Given the description of an element on the screen output the (x, y) to click on. 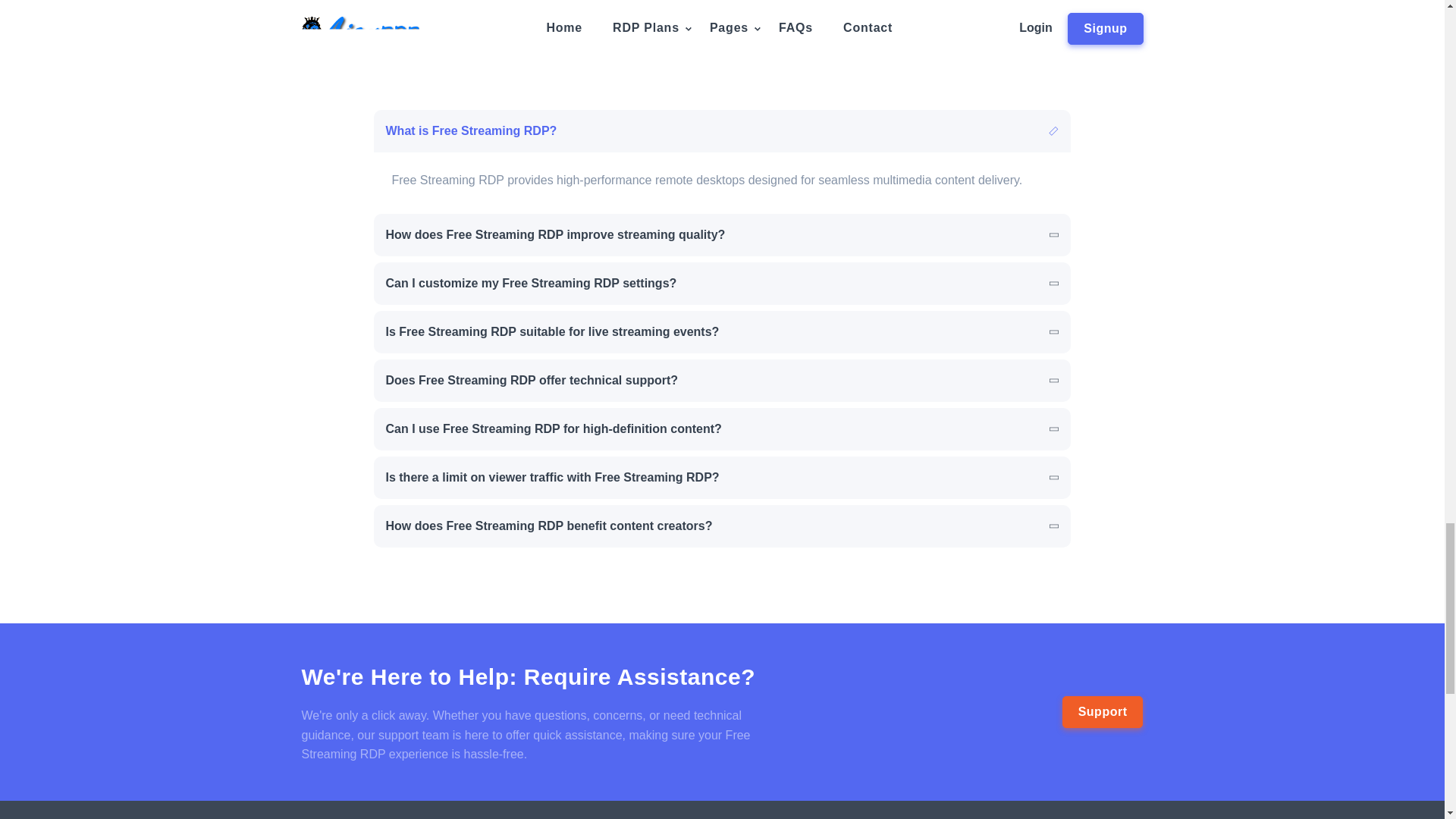
Can I use Free Streaming RDP for high-definition content? (721, 428)
Support (1102, 712)
Can I customize my Free Streaming RDP settings? (721, 283)
What is Free Streaming RDP? (721, 130)
How does Free Streaming RDP benefit content creators? (721, 526)
Does Free Streaming RDP offer technical support? (721, 380)
Is there a limit on viewer traffic with Free Streaming RDP? (721, 477)
How does Free Streaming RDP improve streaming quality? (721, 234)
Is Free Streaming RDP suitable for live streaming events? (721, 331)
